Given the description of an element on the screen output the (x, y) to click on. 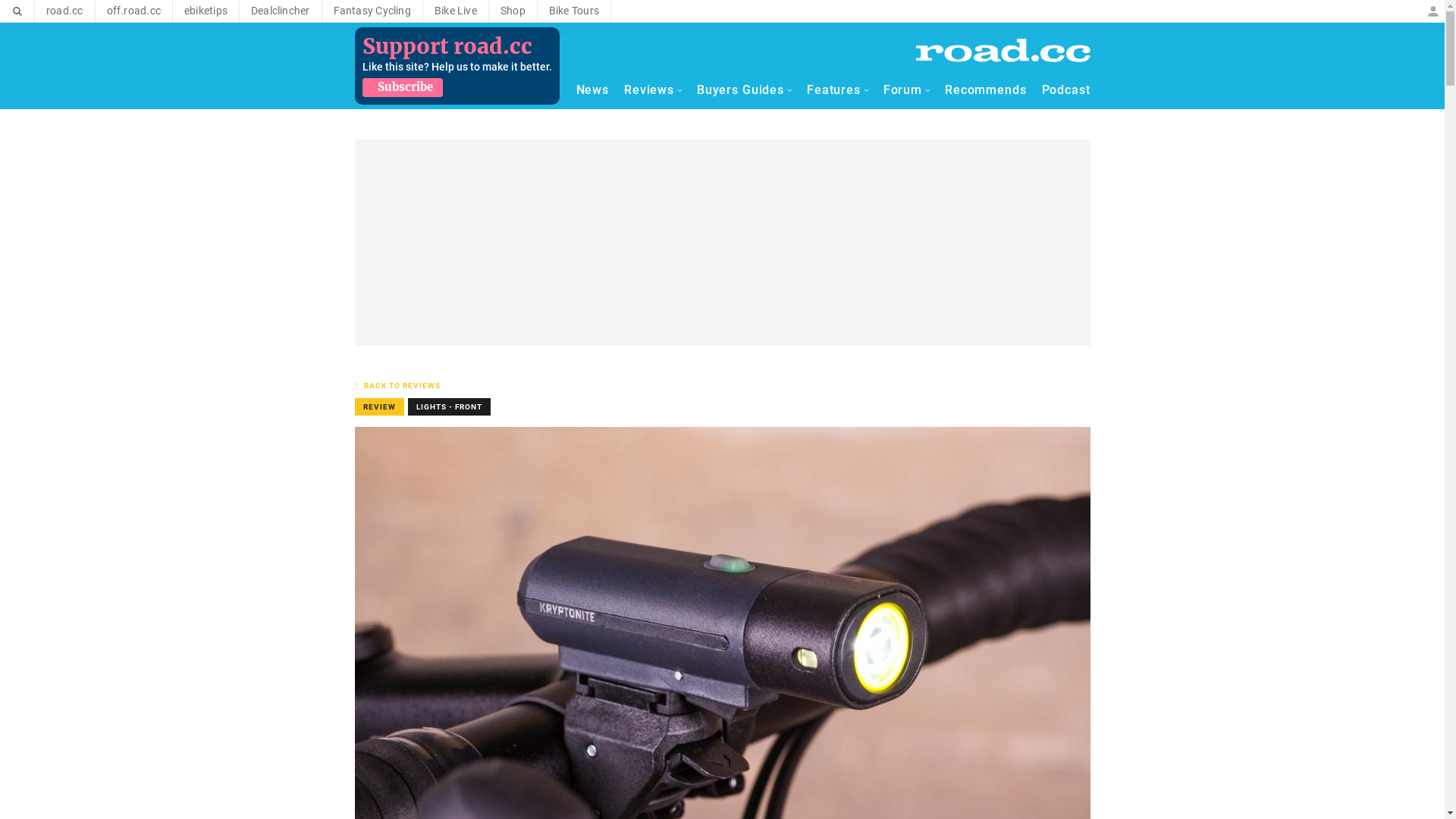
road.cc Element type: text (64, 10)
Reviews Element type: text (652, 90)
Bike Live Element type: text (455, 10)
Recommends Element type: text (985, 90)
Subscribe Element type: text (402, 87)
Bike Tours Element type: text (573, 10)
Buyers Guides Element type: text (743, 90)
LIGHTS - FRONT Element type: text (448, 406)
BACK TO REVIEWS Element type: text (402, 385)
ebiketips Element type: text (205, 10)
Home Element type: hover (1003, 50)
Podcast Element type: text (1065, 90)
Shop Element type: text (512, 10)
News Element type: text (592, 90)
Dealclincher Element type: text (280, 10)
off.road.cc Element type: text (133, 10)
Features Element type: text (837, 90)
Forum Element type: text (906, 90)
Fantasy Cycling Element type: text (372, 10)
